Given the description of an element on the screen output the (x, y) to click on. 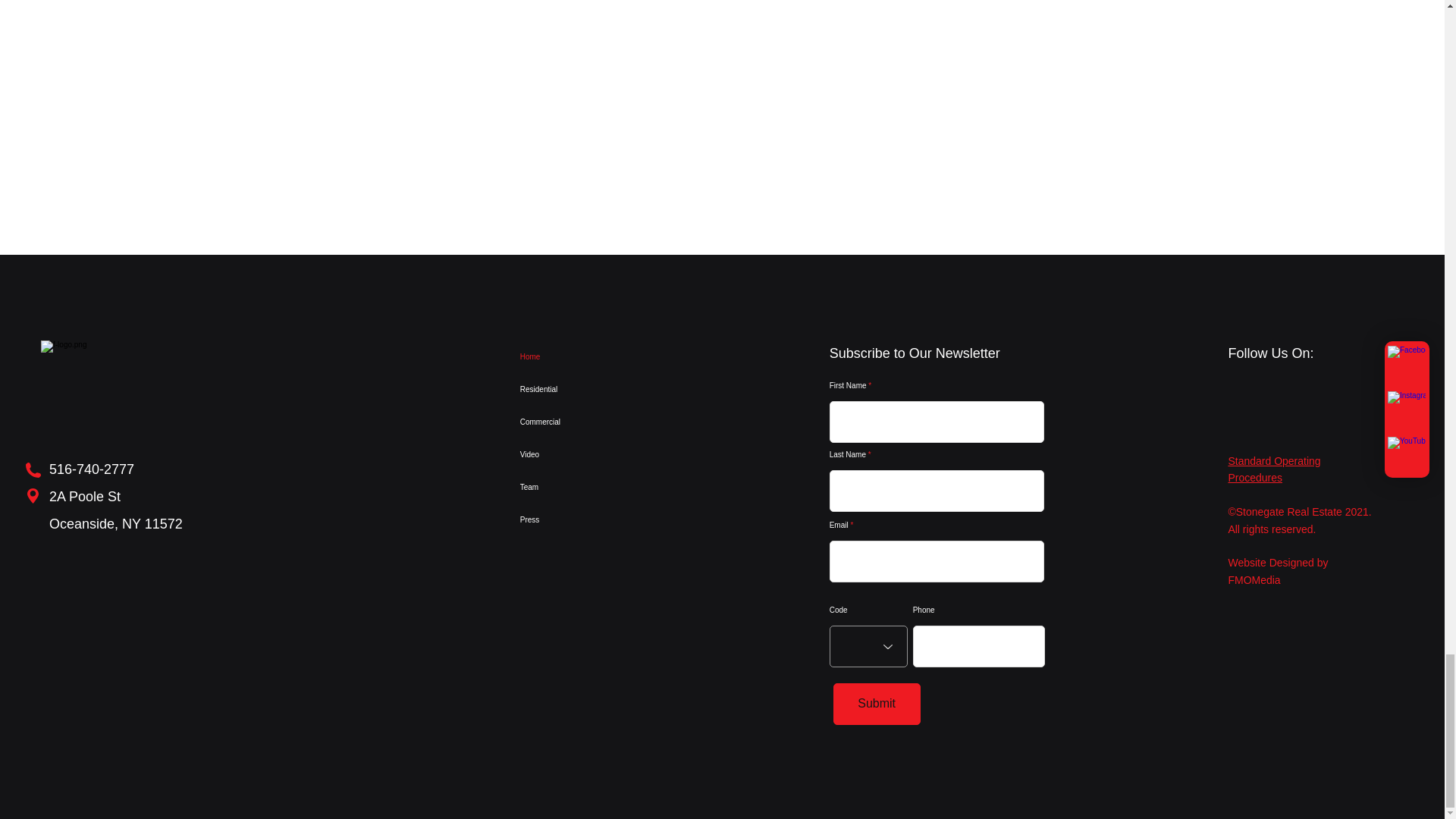
Submit (876, 703)
Oceanside, NY 11572 (116, 523)
516-740-2777 (91, 468)
Press (584, 519)
Video (584, 454)
2A Poole St (84, 496)
Home (584, 356)
